Given the description of an element on the screen output the (x, y) to click on. 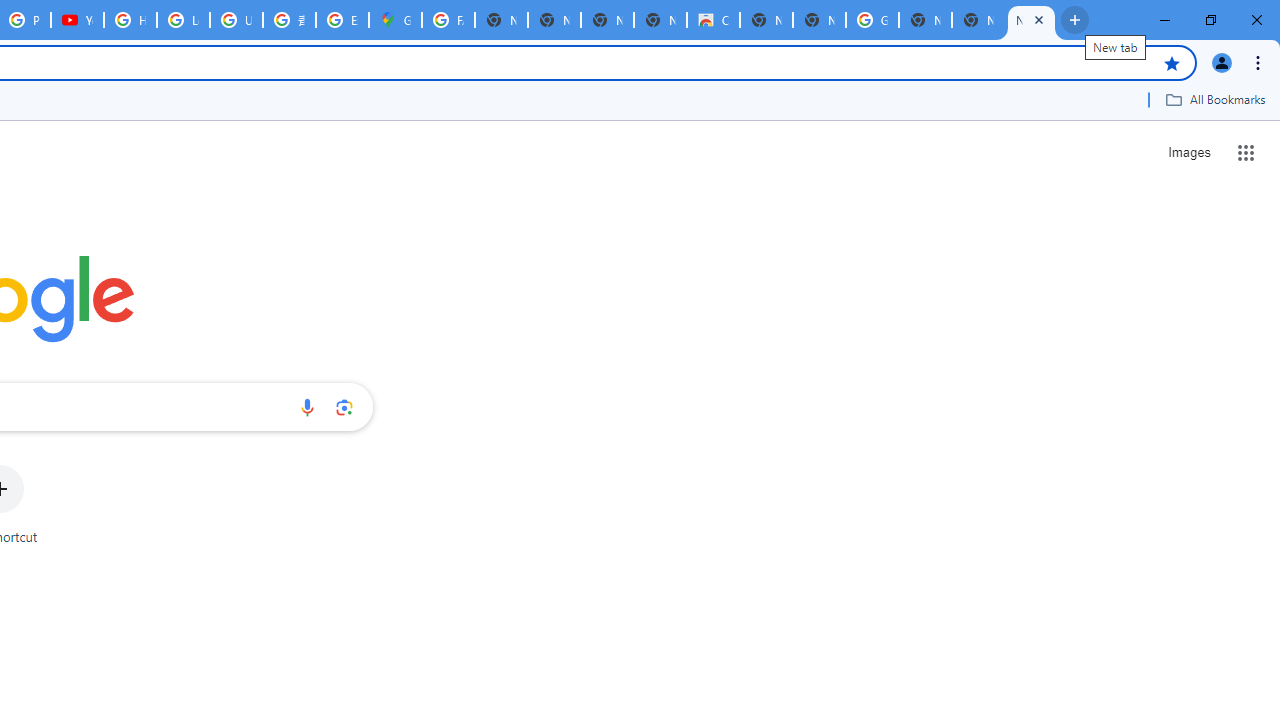
New Tab (819, 20)
Restore (1210, 20)
Bookmark this tab (1171, 62)
Search for Images  (1188, 152)
Close (1039, 19)
Google apps (1245, 152)
Search by voice (307, 407)
New Tab (1075, 20)
